Given the description of an element on the screen output the (x, y) to click on. 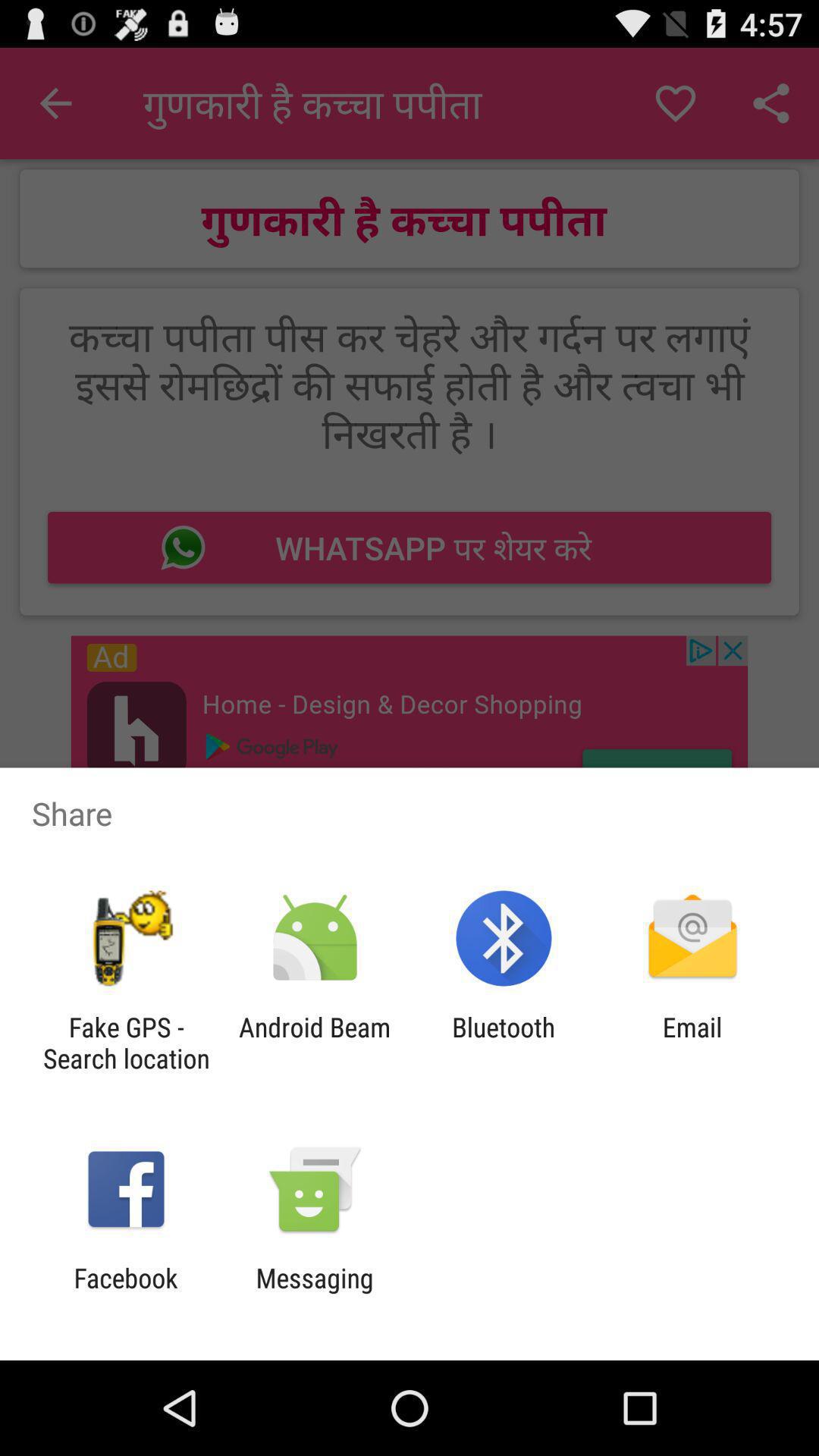
turn off the item next to the facebook icon (314, 1293)
